Given the description of an element on the screen output the (x, y) to click on. 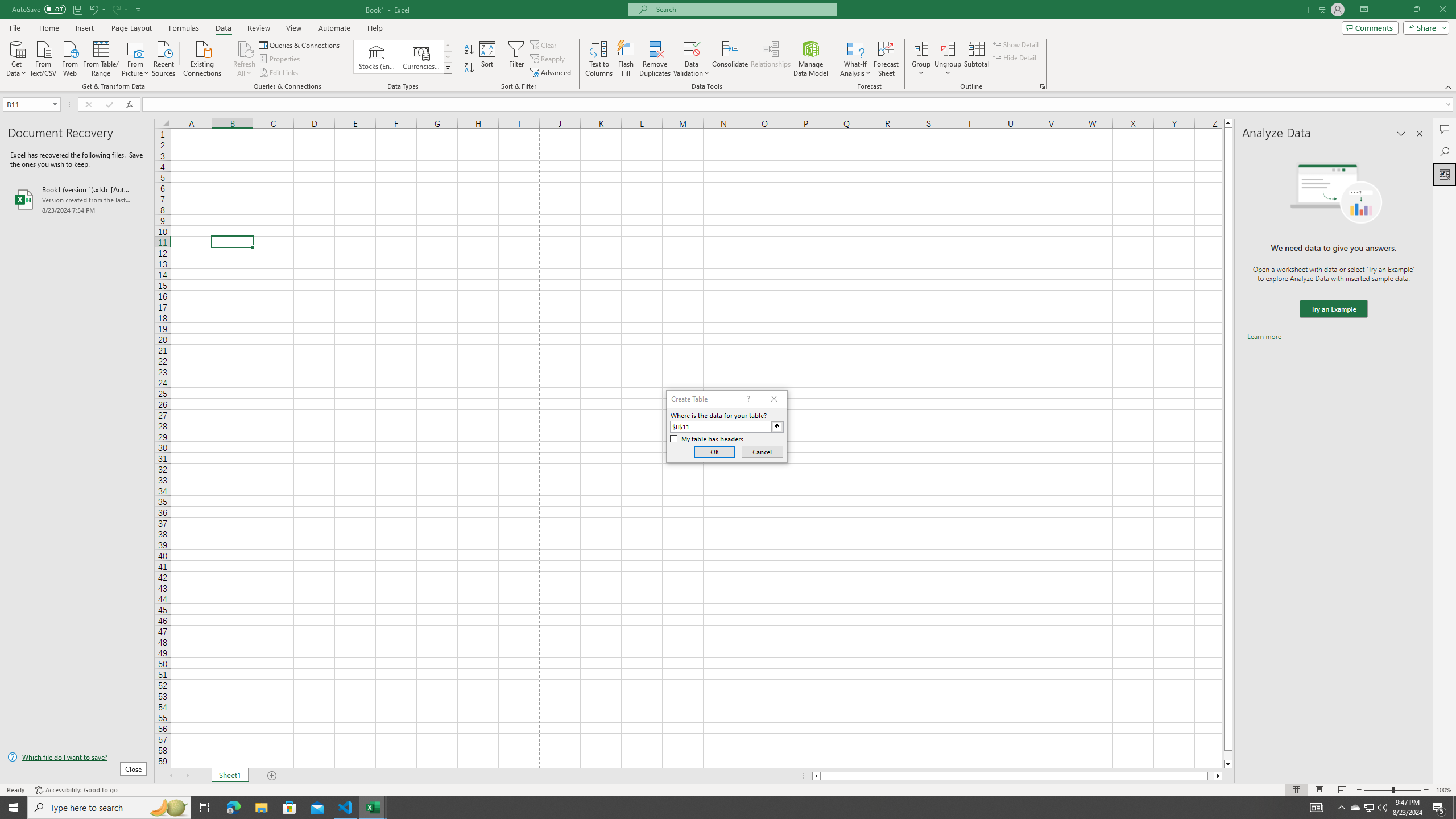
Search (1444, 151)
AutomationID: ConvertToLinkedEntity (403, 56)
Show Detail (1016, 44)
Filter (515, 58)
Flash Fill (625, 58)
Stocks (English) (375, 56)
Relationships (770, 58)
Text to Columns... (598, 58)
From Web (69, 57)
